Given the description of an element on the screen output the (x, y) to click on. 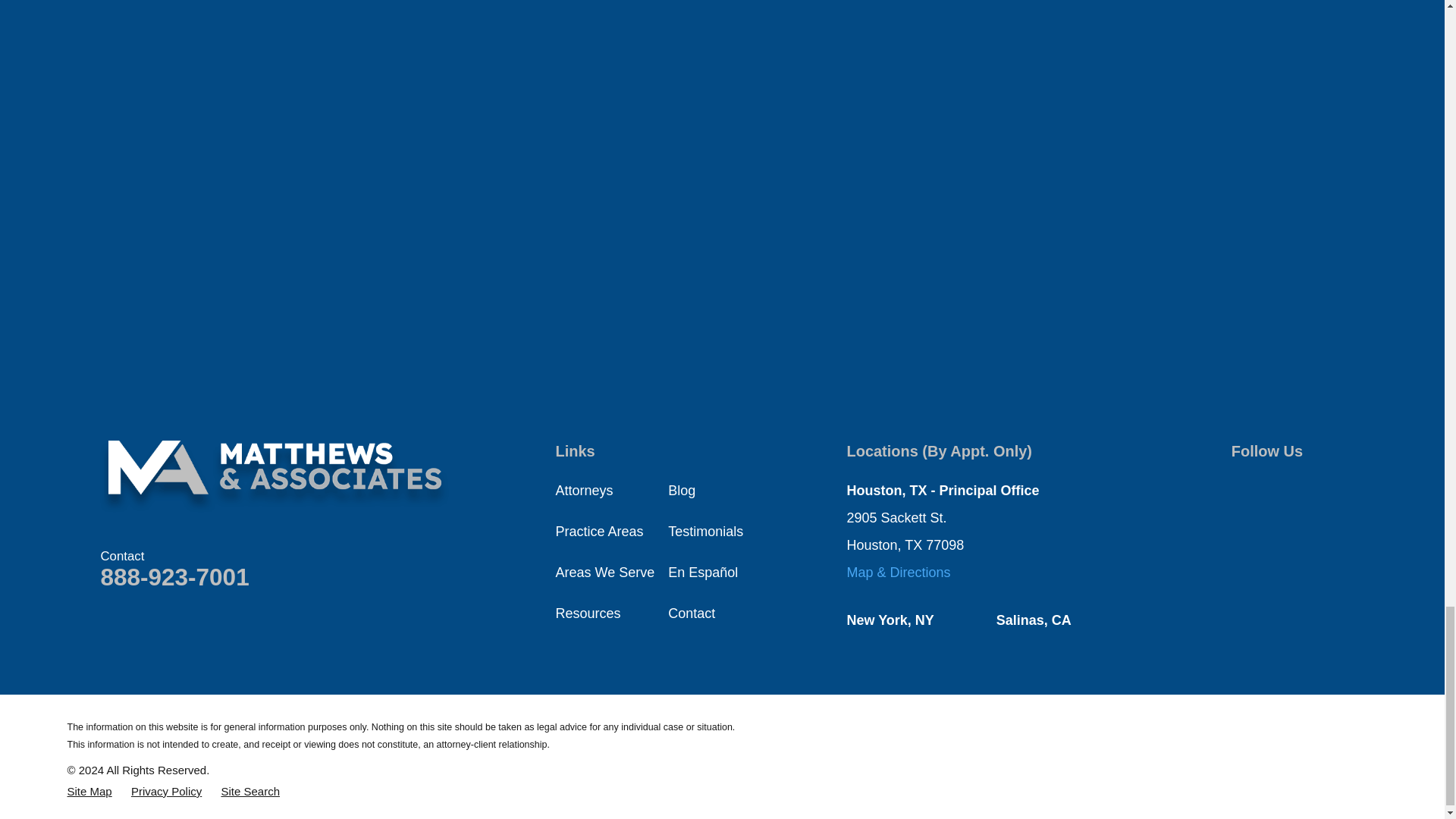
YouTube (1319, 486)
Twitter (1280, 486)
Instagram (1240, 525)
Facebook (1240, 486)
LinkedIn (1280, 525)
Home (274, 476)
